Given the description of an element on the screen output the (x, y) to click on. 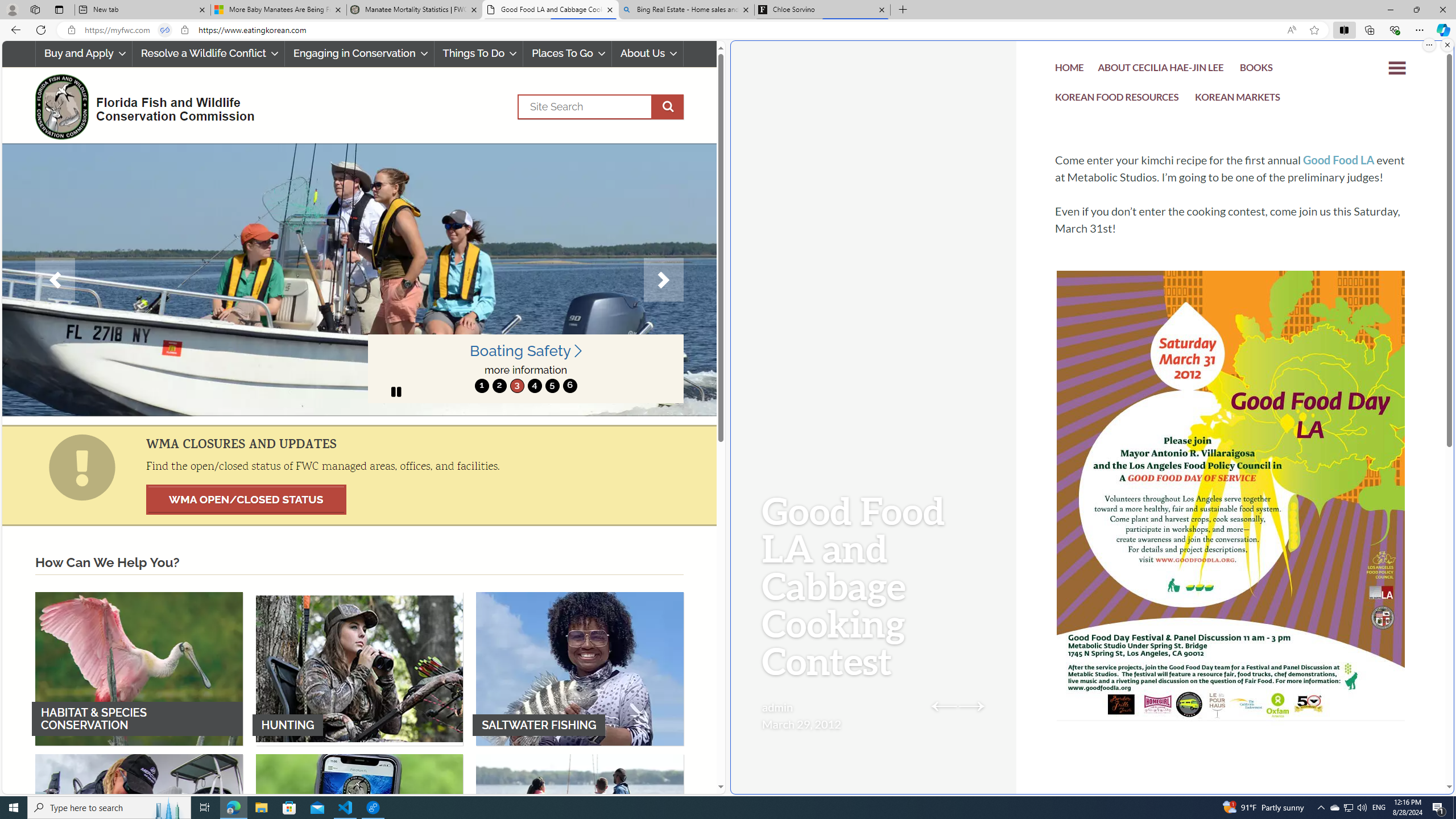
move to slide 5 (551, 385)
Places To Go (566, 53)
move to slide 6 (569, 385)
slider pause button (396, 391)
move to slide 3 (516, 385)
FWC Logo (61, 106)
About Us (647, 53)
good food la poster (1230, 530)
Things To Do (478, 53)
KOREAN FOOD RESOURCES (1117, 98)
Engaging in Conservation (358, 53)
